Given the description of an element on the screen output the (x, y) to click on. 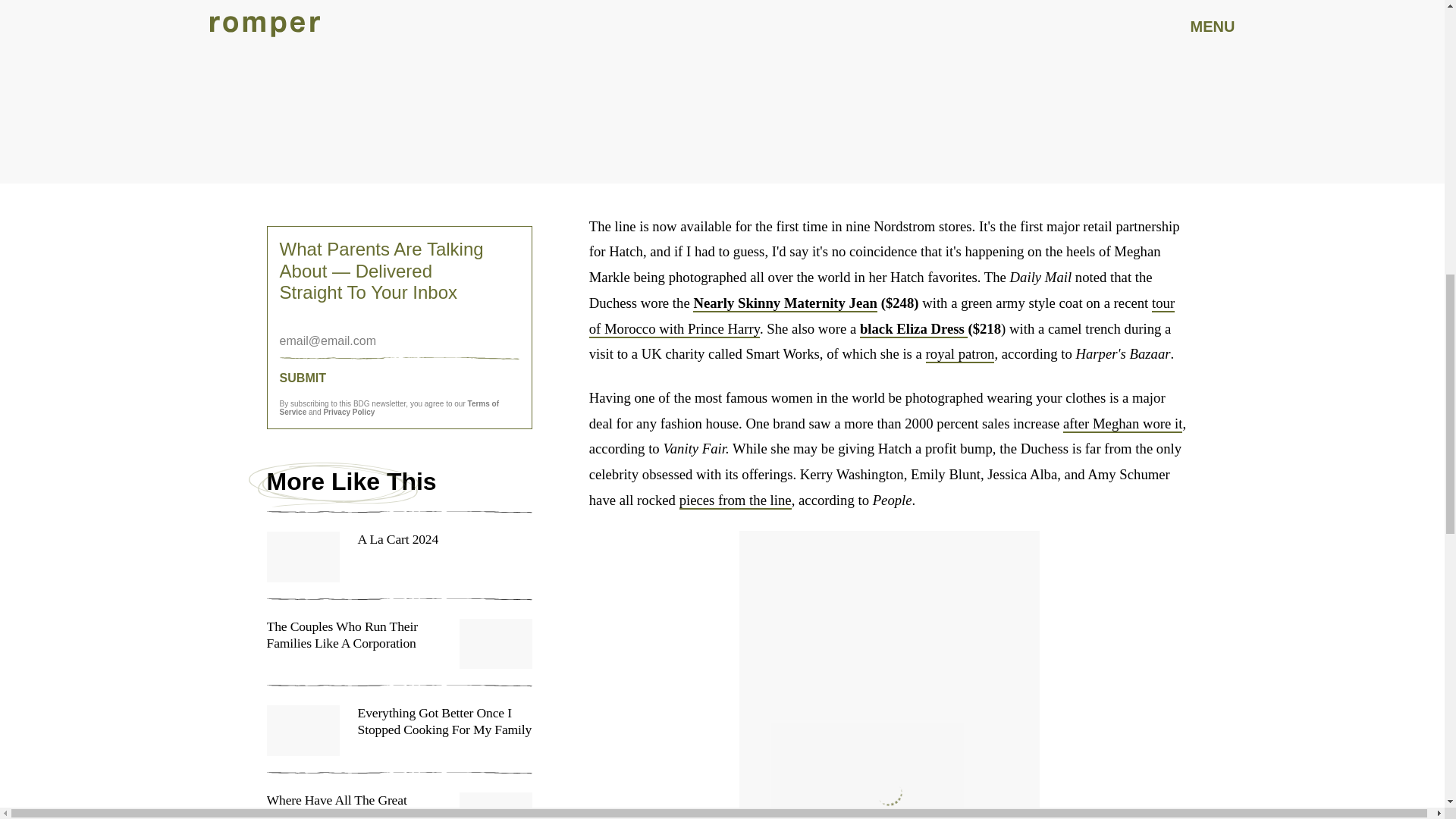
A La Cart 2024 (399, 565)
Everything Got Better Once I Stopped Cooking For My Family (399, 739)
royal patron (960, 354)
Where Have All The Great Sports Movies Gone? (399, 805)
pieces from the line (735, 500)
The Couples Who Run Their Families Like A Corporation (399, 653)
Privacy Policy (348, 411)
after Meghan wore it (1122, 424)
Nearly Skinny Maternity Jean (785, 303)
black Eliza Dress (914, 328)
tour of Morocco with Prince Harry (881, 316)
Terms of Service (389, 407)
SUBMIT (399, 378)
